Given the description of an element on the screen output the (x, y) to click on. 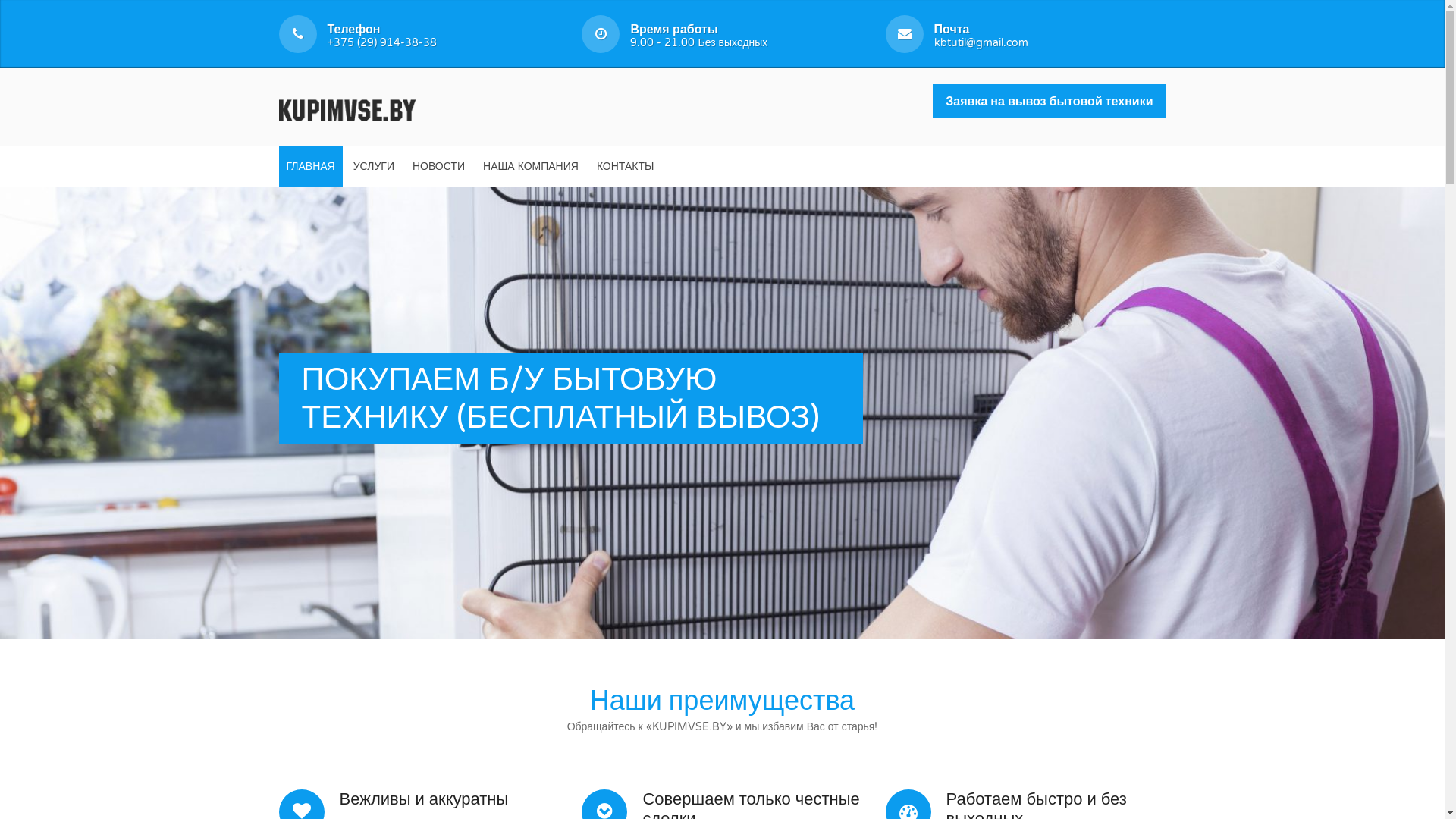
KUPIMVSE.BY Element type: hover (347, 106)
